Given the description of an element on the screen output the (x, y) to click on. 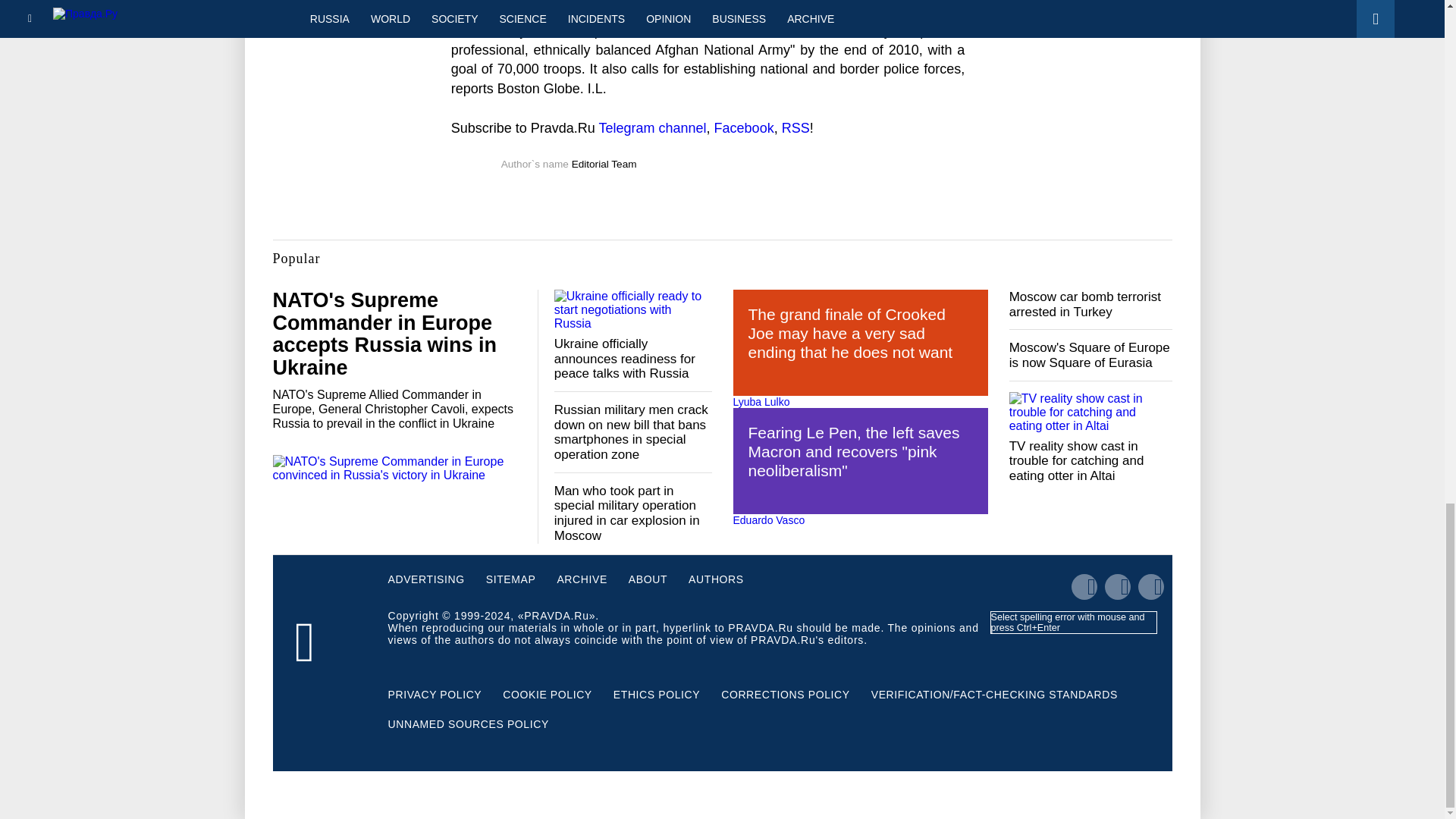
Telegram channel (652, 127)
Facebook (744, 127)
RSS (795, 127)
